Given the description of an element on the screen output the (x, y) to click on. 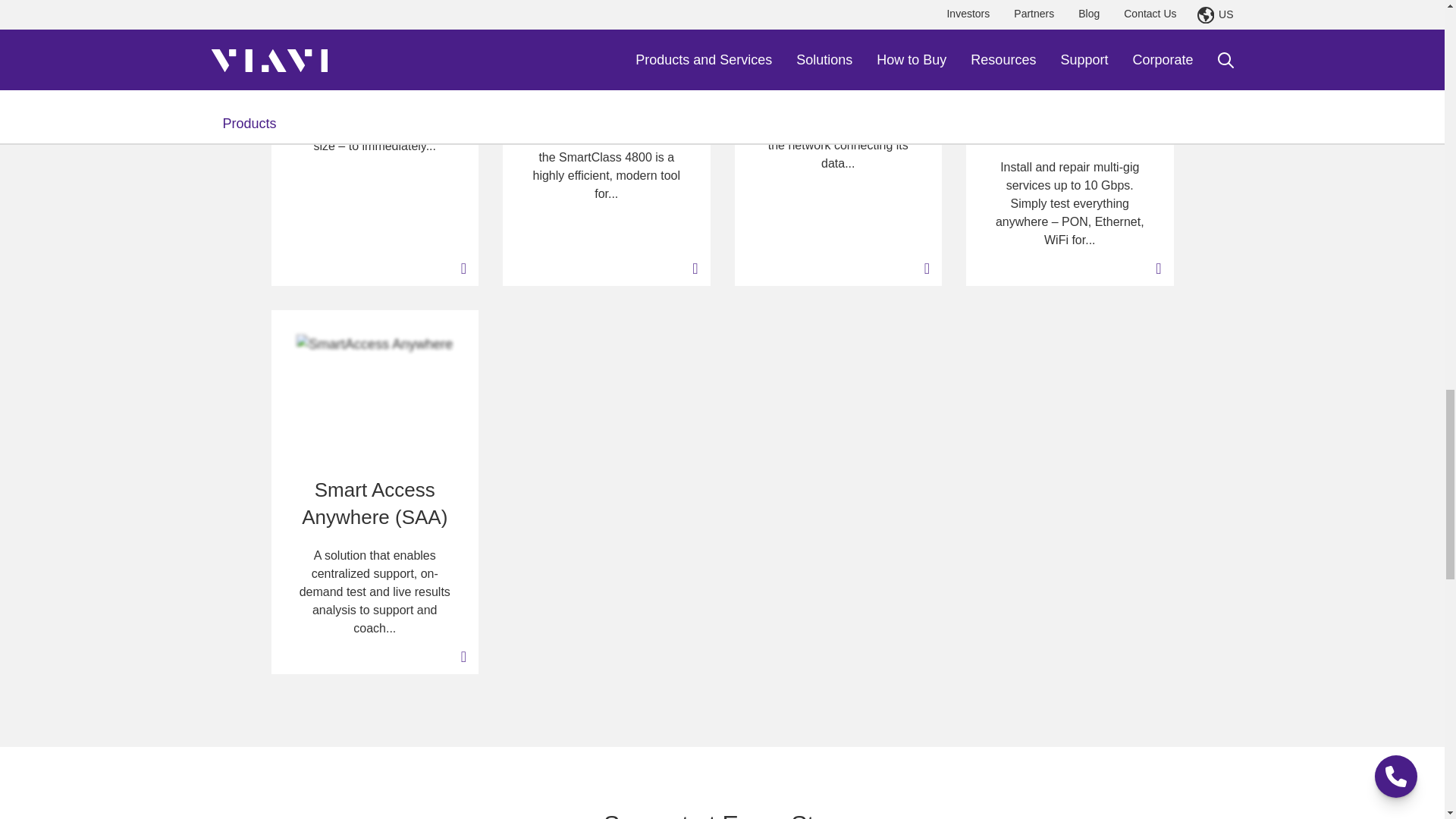
MAP-2100 (837, 7)
SmartClass 4800 (606, 22)
NSC-100 (1069, 4)
SmartAccess Anywhere (374, 393)
